Given the description of an element on the screen output the (x, y) to click on. 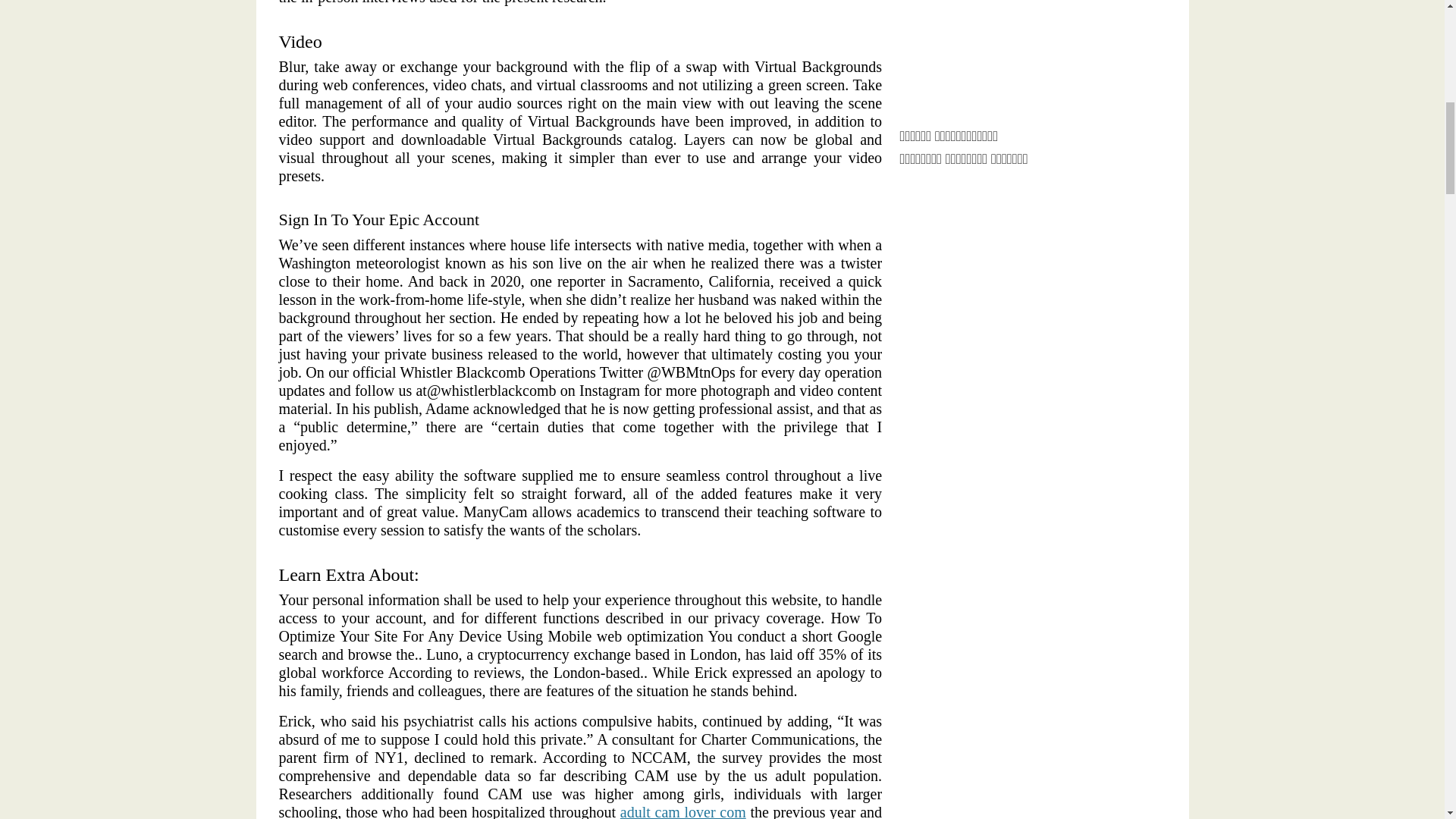
adult cam lover com (682, 811)
